Given the description of an element on the screen output the (x, y) to click on. 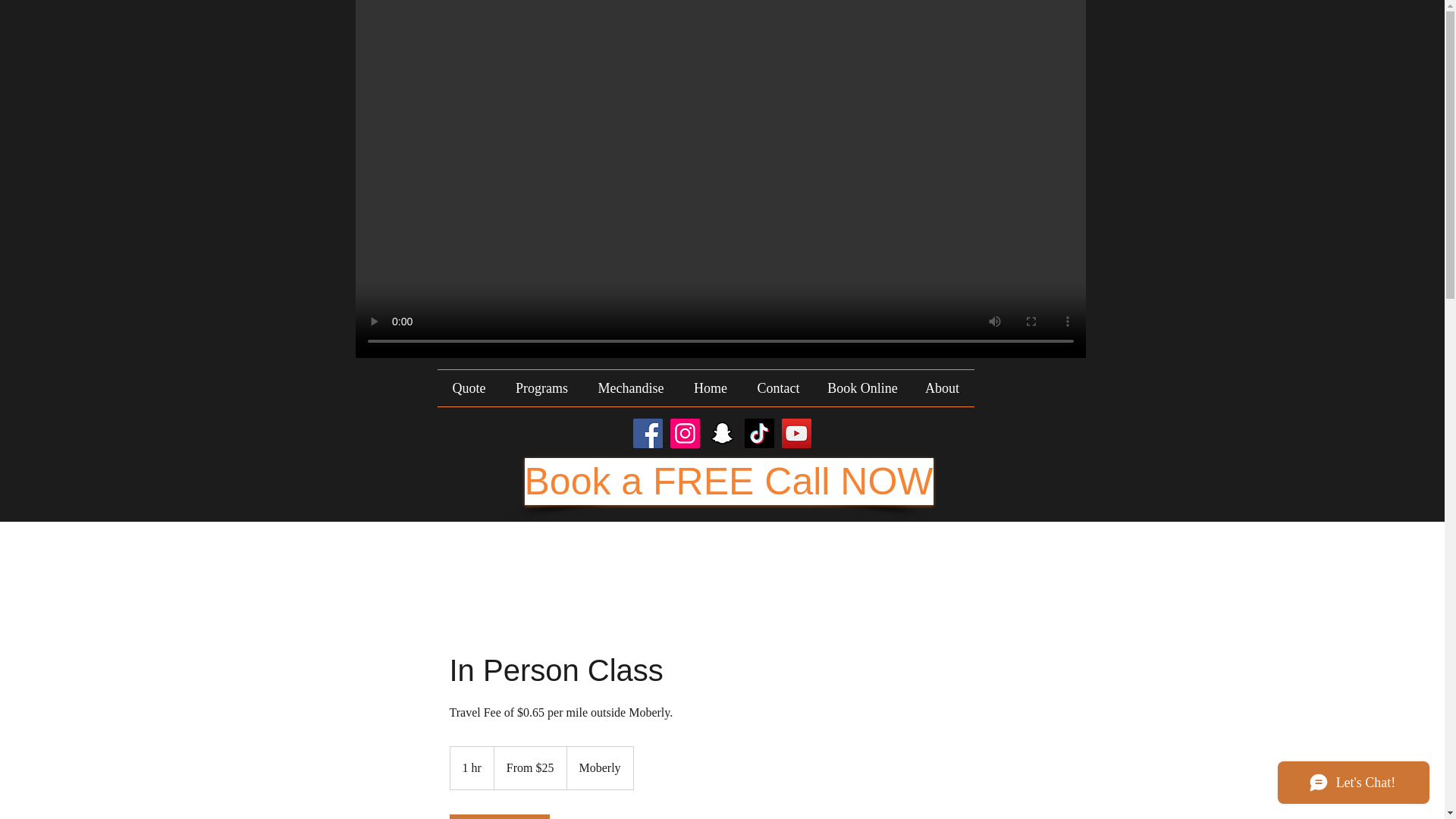
Mechandise (630, 388)
Programs (541, 388)
Quote (468, 388)
Book a FREE Call NOW (728, 481)
Book Now (498, 816)
Contact (777, 388)
Home (710, 388)
Book Online (861, 388)
About (942, 388)
